Given the description of an element on the screen output the (x, y) to click on. 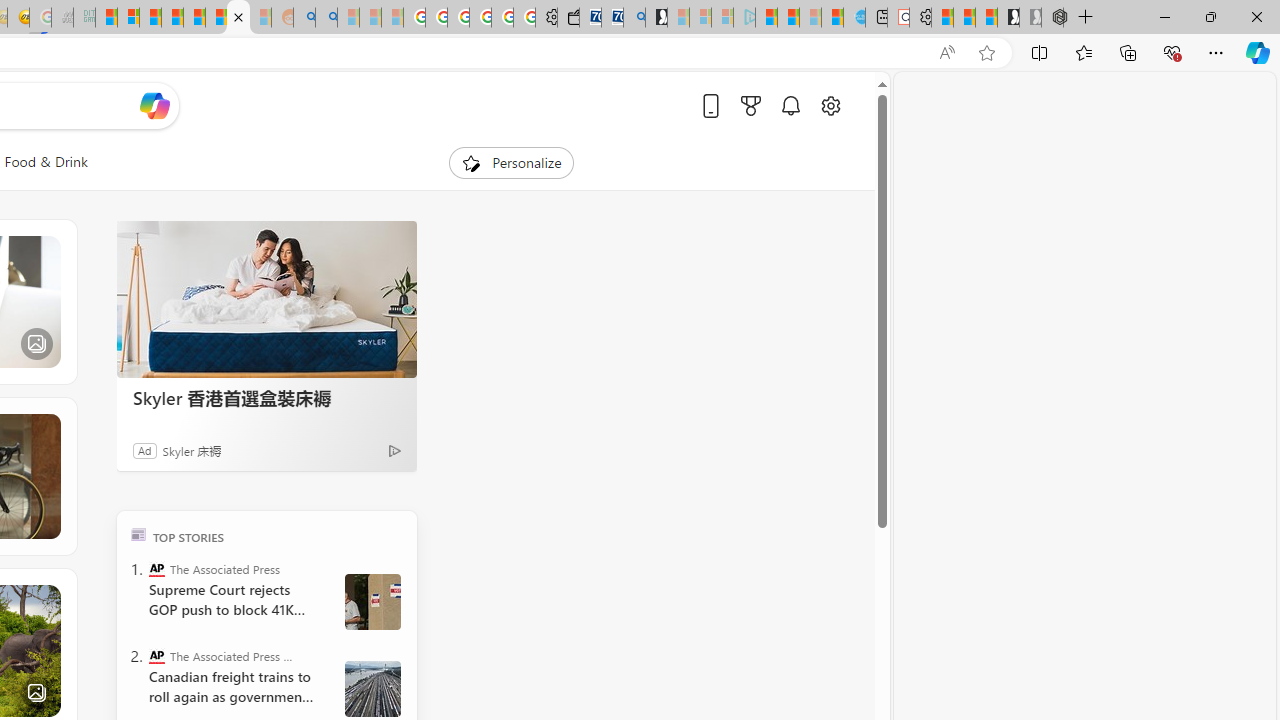
Notifications (790, 105)
Microsoft account | Privacy - Sleeping (722, 17)
Microsoft account | Privacy (128, 17)
Food & Drink (45, 162)
DITOGAMES AG Imprint - Sleeping (84, 17)
Wallet (568, 17)
